Given the description of an element on the screen output the (x, y) to click on. 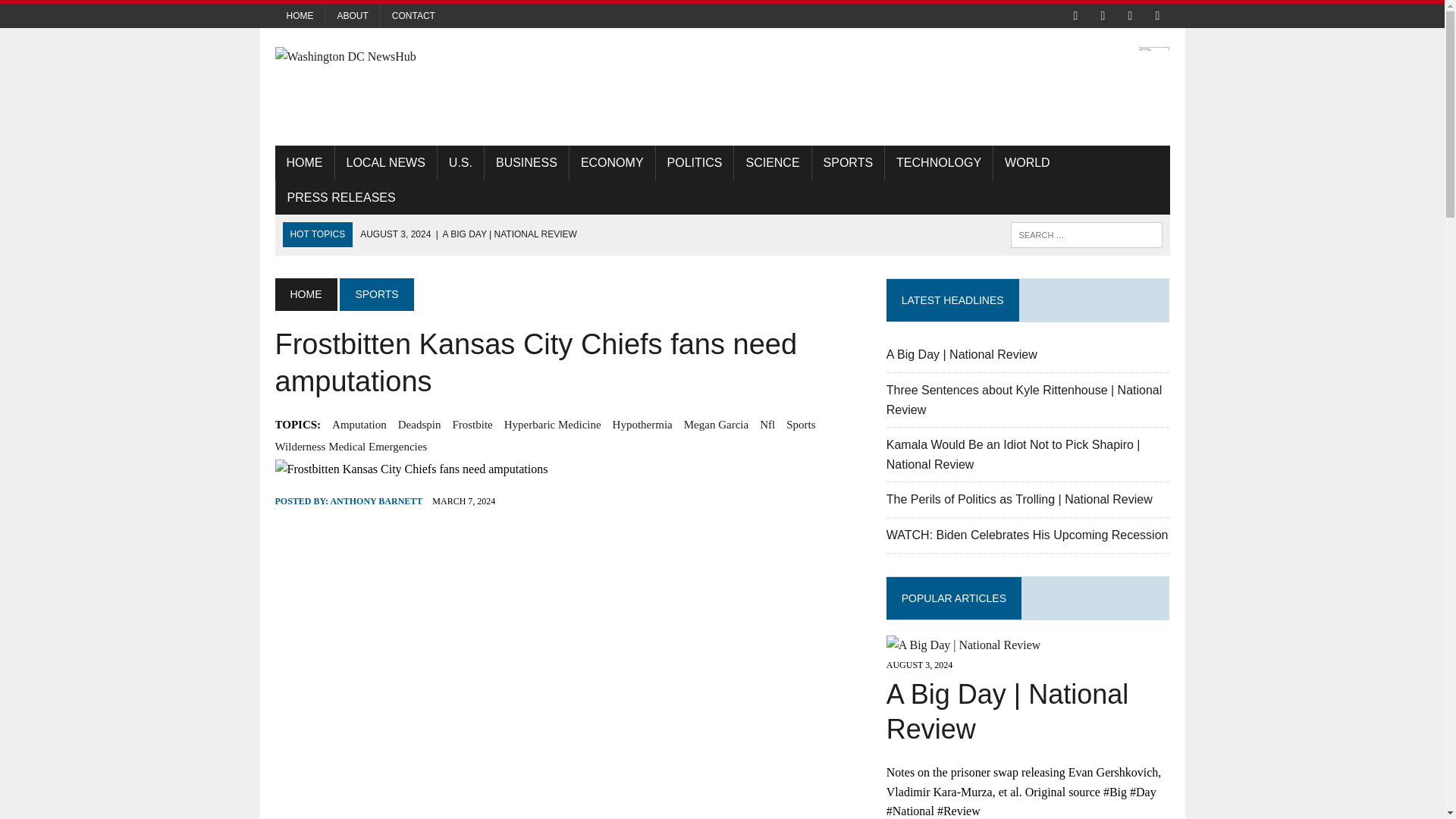
Wilderness Medical Emergencies (350, 446)
Hyperbaric Medicine (552, 424)
WORLD (1026, 162)
Search (75, 14)
ANTHONY BARNETT (376, 501)
SPORTS (848, 162)
PRESS RELEASES (341, 197)
Hypothermia (642, 424)
ECONOMY (612, 162)
BUSINESS (526, 162)
